Given the description of an element on the screen output the (x, y) to click on. 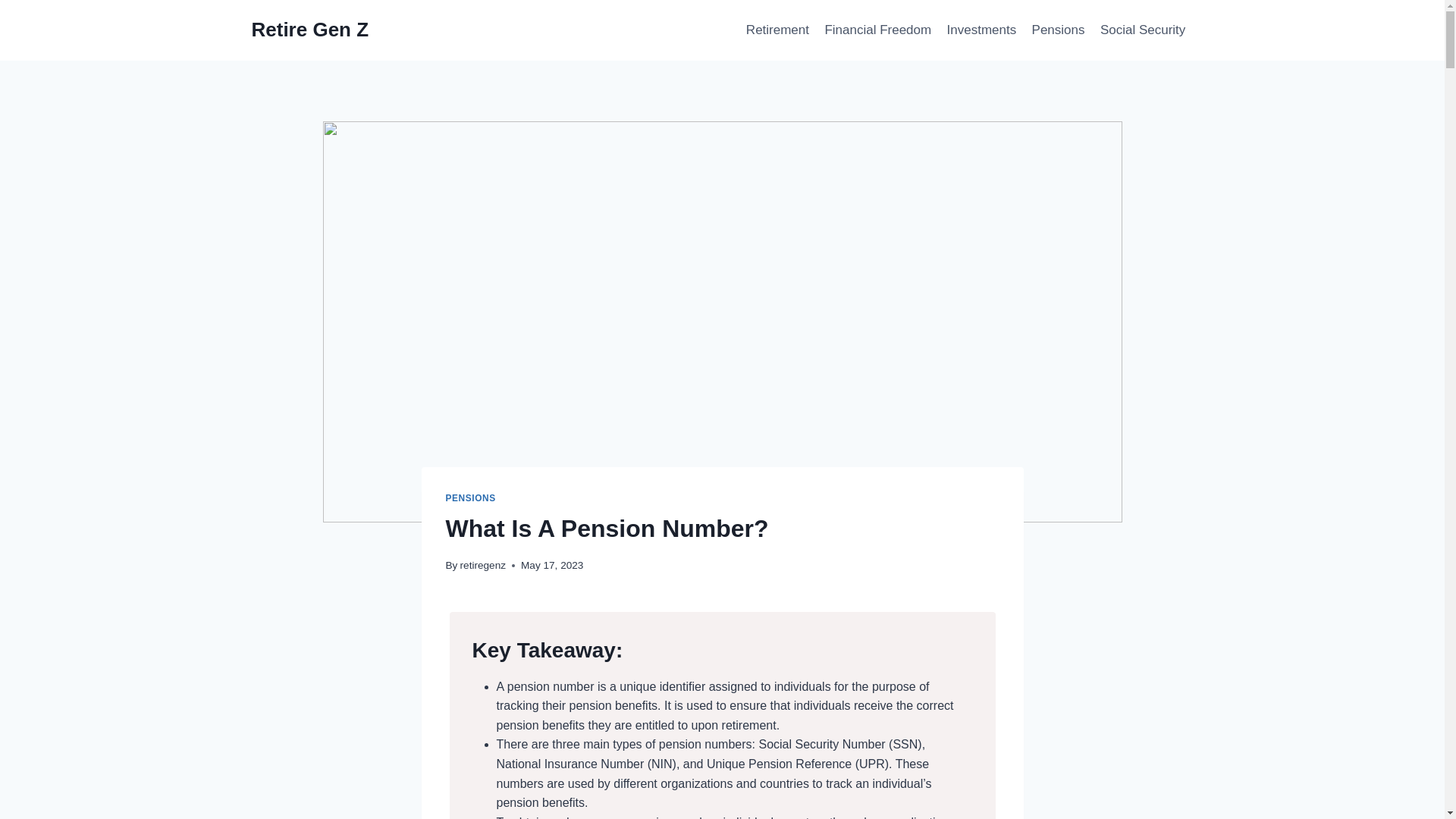
Pensions (1057, 30)
retiregenz (482, 564)
Investments (981, 30)
Financial Freedom (877, 30)
Retire Gen Z (310, 29)
PENSIONS (470, 498)
Retirement (777, 30)
Social Security (1143, 30)
